Given the description of an element on the screen output the (x, y) to click on. 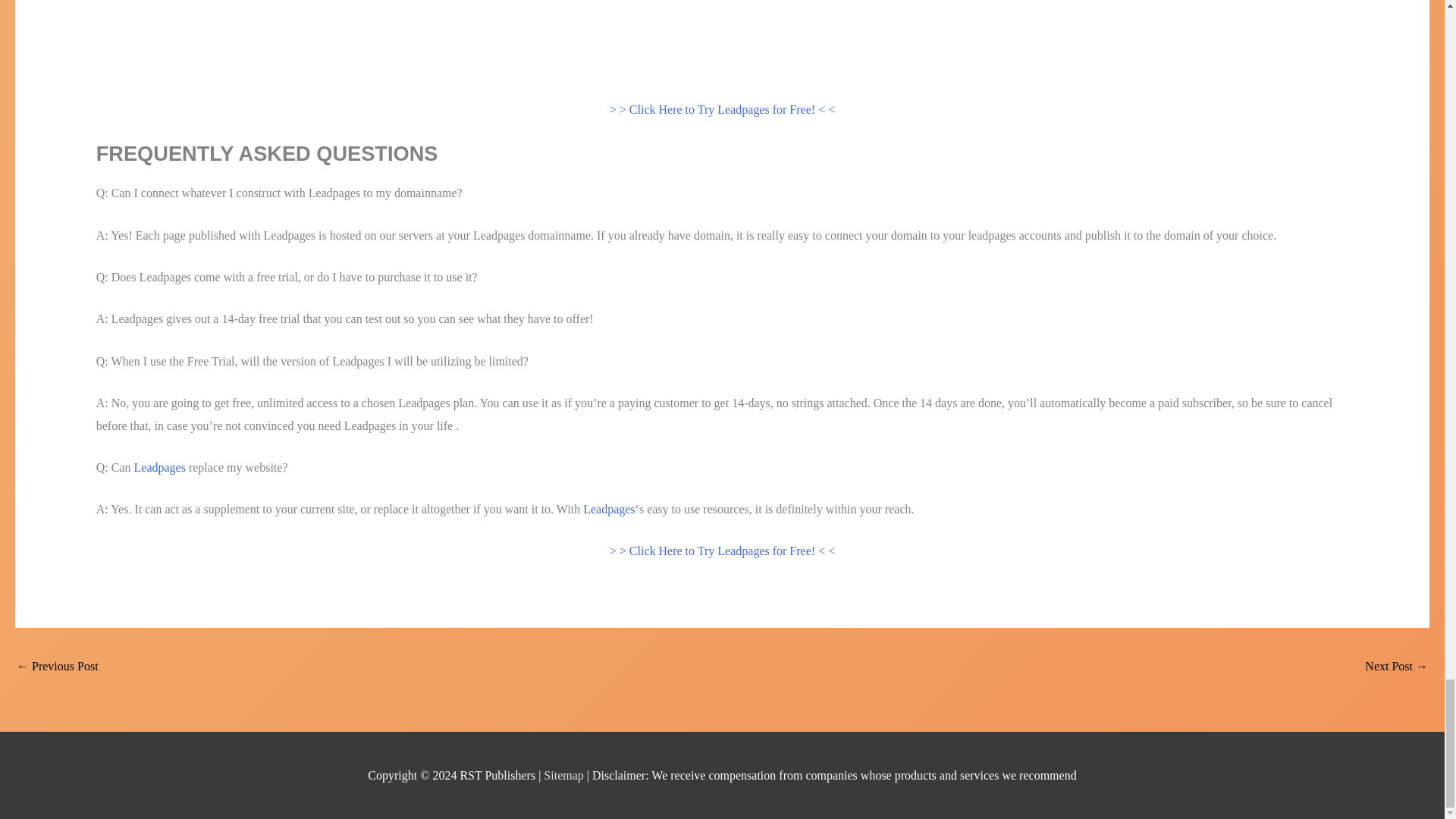
Sitemap (564, 775)
Annagatmon Leadpages (1396, 667)
Leadpages (158, 467)
Leadpages (608, 508)
Can You Integrate Leadpages Drag and Drop With Sharpspring (57, 667)
